Given the description of an element on the screen output the (x, y) to click on. 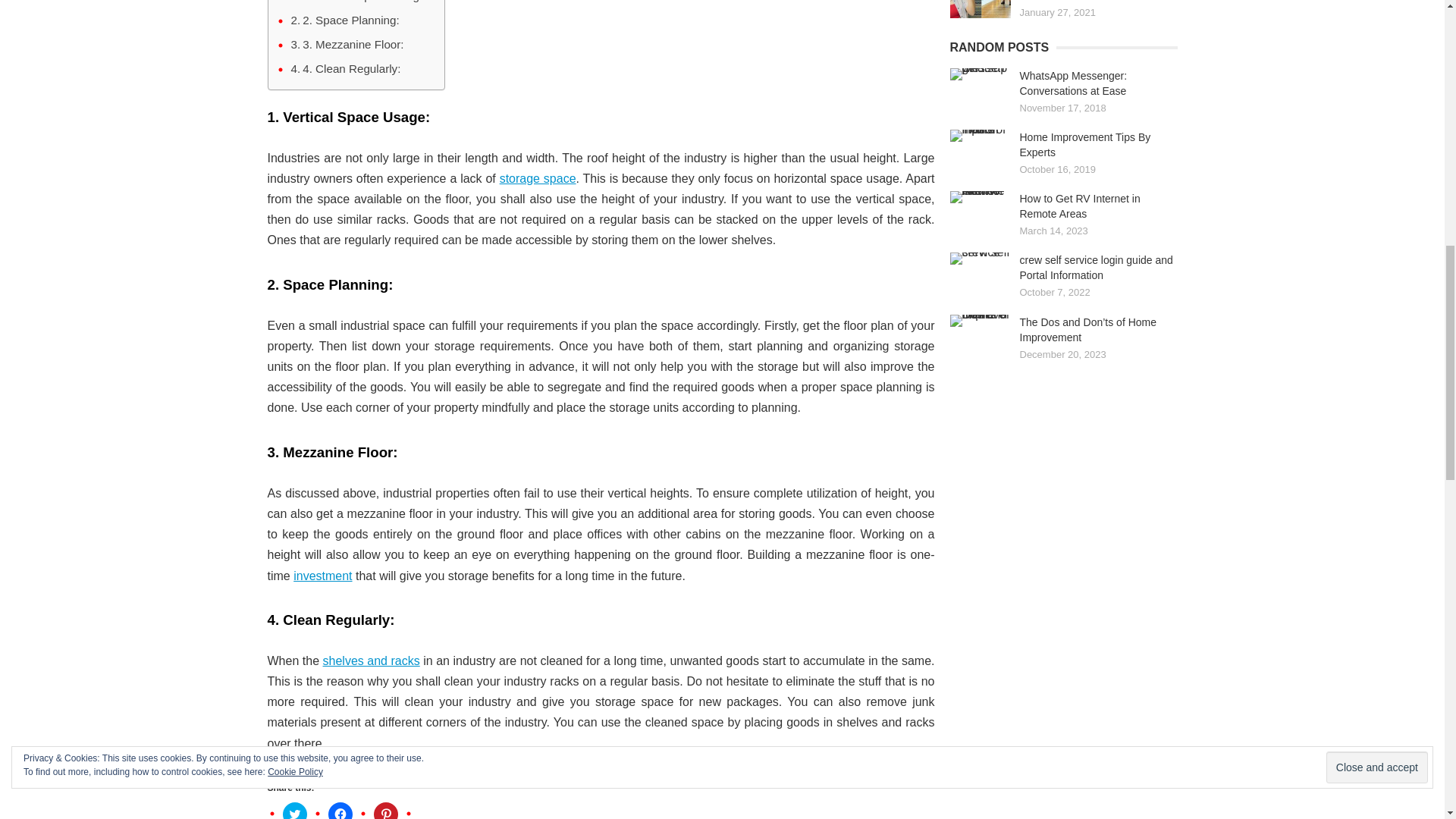
4. Clean Regularly: (346, 68)
3. Mezzanine Floor: (347, 45)
Click to share on Twitter (293, 810)
2. Space Planning: (344, 20)
1. Vertical Space Usage: (360, 2)
Click to share on Pinterest (384, 810)
Click to share on Facebook (339, 810)
